Given the description of an element on the screen output the (x, y) to click on. 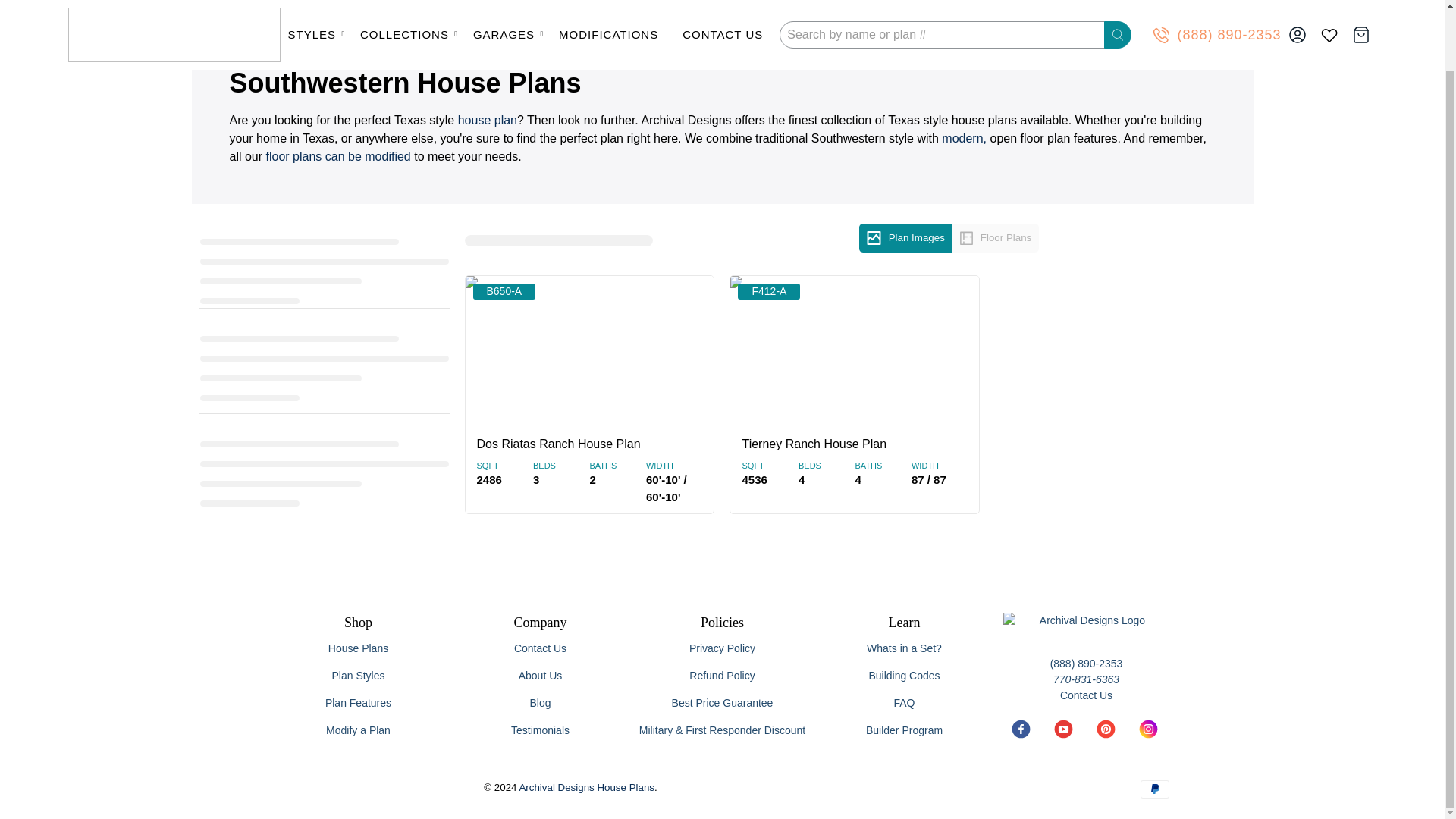
Southwestern House Plans (308, 23)
modify a stock floor plan (338, 155)
Contact Us (1085, 695)
modern house plans (964, 137)
Archival Designs House Plans on YouTube (1062, 735)
Archival Designs House Plans (204, 23)
tel:770-831-6363 (1085, 679)
Archival Designs House Plans on Instagram (1147, 735)
Archival Designs House Plans on Pinterest (1104, 735)
Archival Designs House Plans on Facebook (1020, 735)
